Given the description of an element on the screen output the (x, y) to click on. 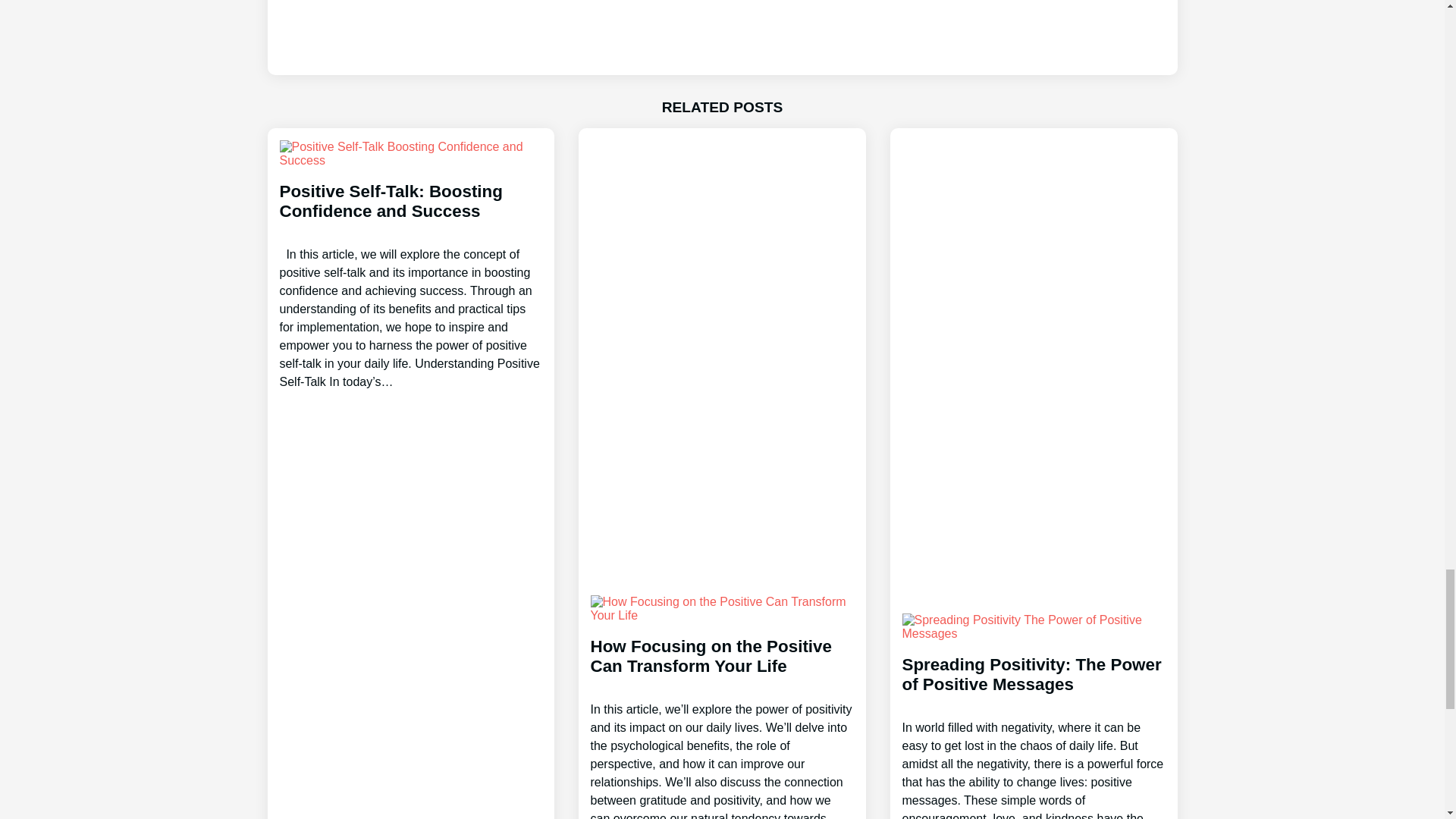
How Focusing on the Positive Can Transform Your Life (721, 714)
Spreading Positivity: The Power of Positive Messages (1034, 723)
Positive Self-Talk: Boosting Confidence and Success (410, 272)
